Given the description of an element on the screen output the (x, y) to click on. 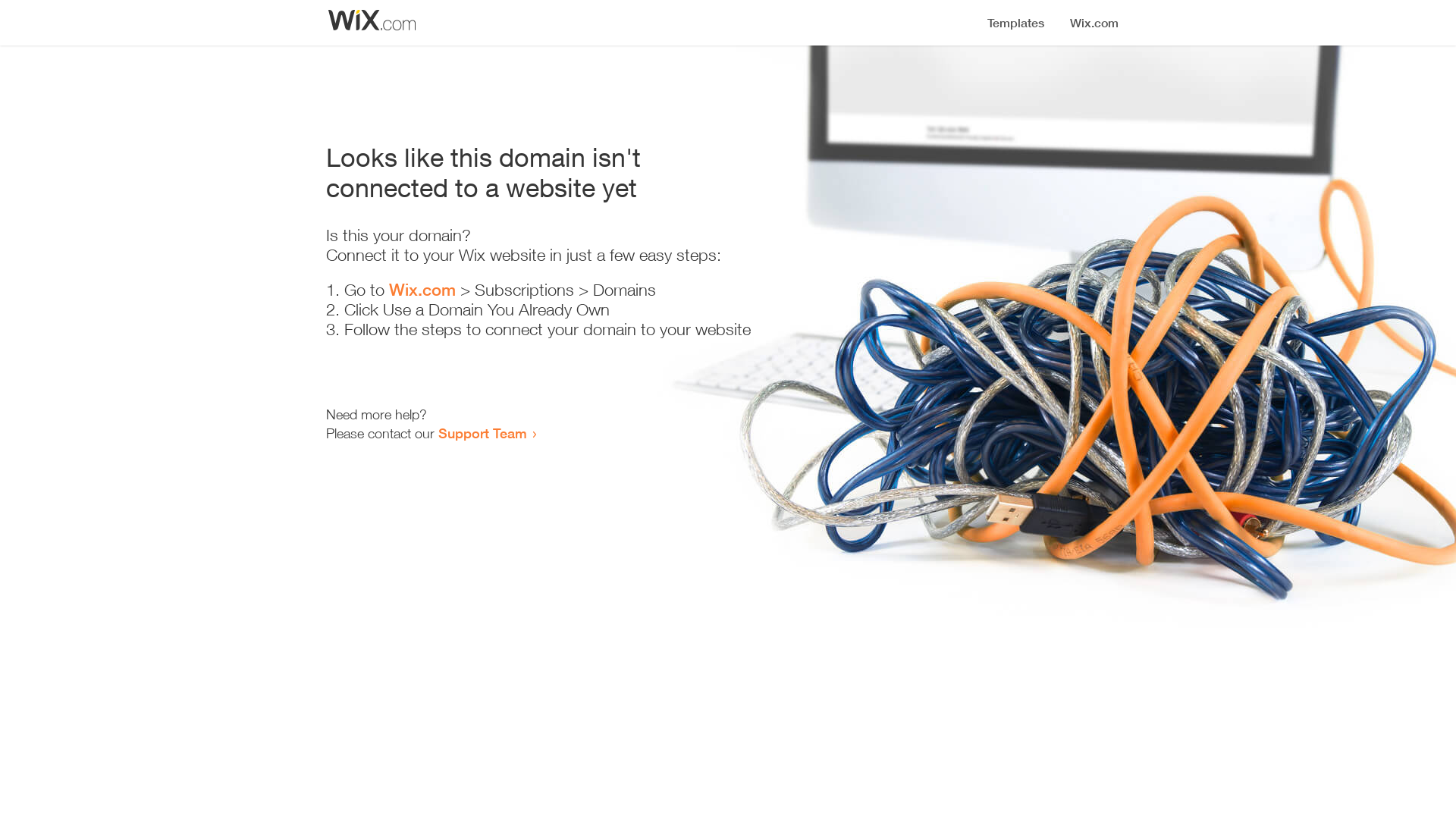
Wix.com Element type: text (422, 289)
Support Team Element type: text (482, 432)
